Given the description of an element on the screen output the (x, y) to click on. 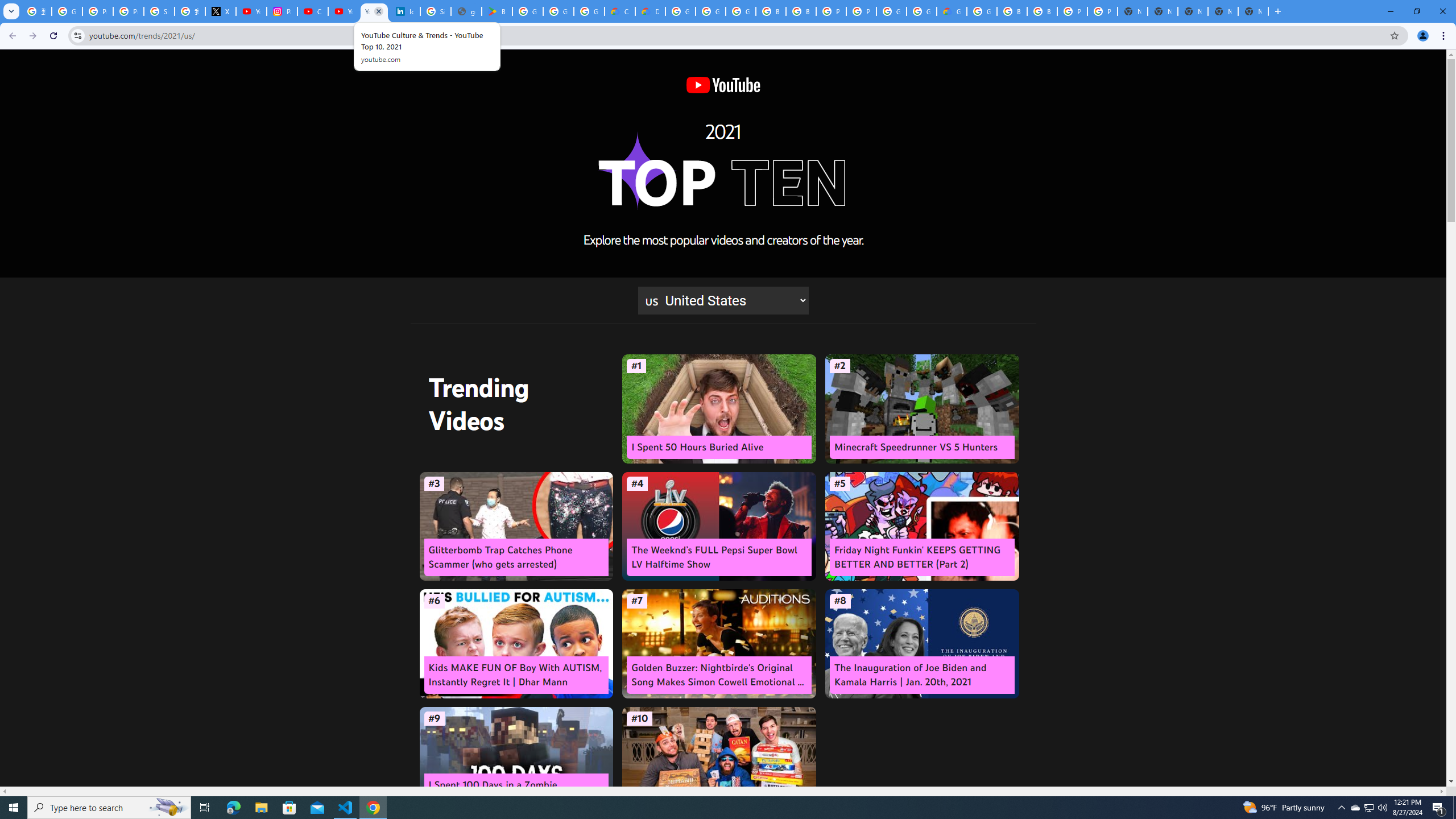
Google Cloud Estimate Summary (951, 11)
YouTube Culture & Trends - YouTube Top 10, 2021 (373, 11)
Customer Care | Google Cloud (619, 11)
Browse Chrome as a guest - Computer - Google Chrome Help (800, 11)
